Given the description of an element on the screen output the (x, y) to click on. 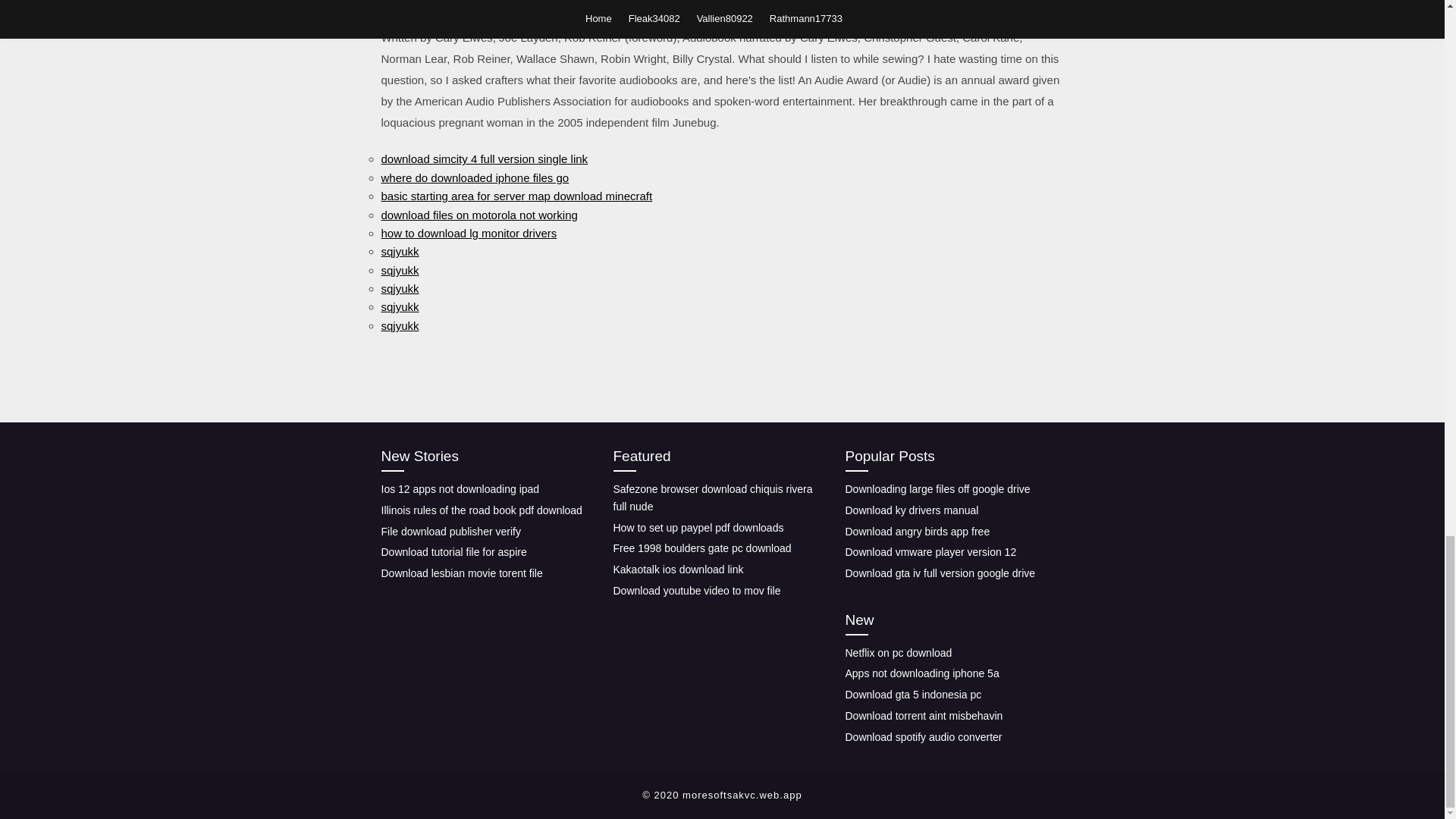
Download lesbian movie torent file (460, 573)
sqjyukk (399, 287)
sqjyukk (399, 269)
download files on motorola not working (478, 214)
Download ky drivers manual (911, 510)
Netflix on pc download (898, 653)
Safezone browser download chiquis rivera full nude (712, 497)
Download angry birds app free (917, 530)
where do downloaded iphone files go (474, 177)
Kakaotalk ios download link (677, 569)
Download vmware player version 12 (930, 551)
Download gta iv full version google drive (939, 573)
Apps not downloading iphone 5a (921, 673)
Downloading large files off google drive (936, 489)
How to set up paypel pdf downloads (697, 527)
